Given the description of an element on the screen output the (x, y) to click on. 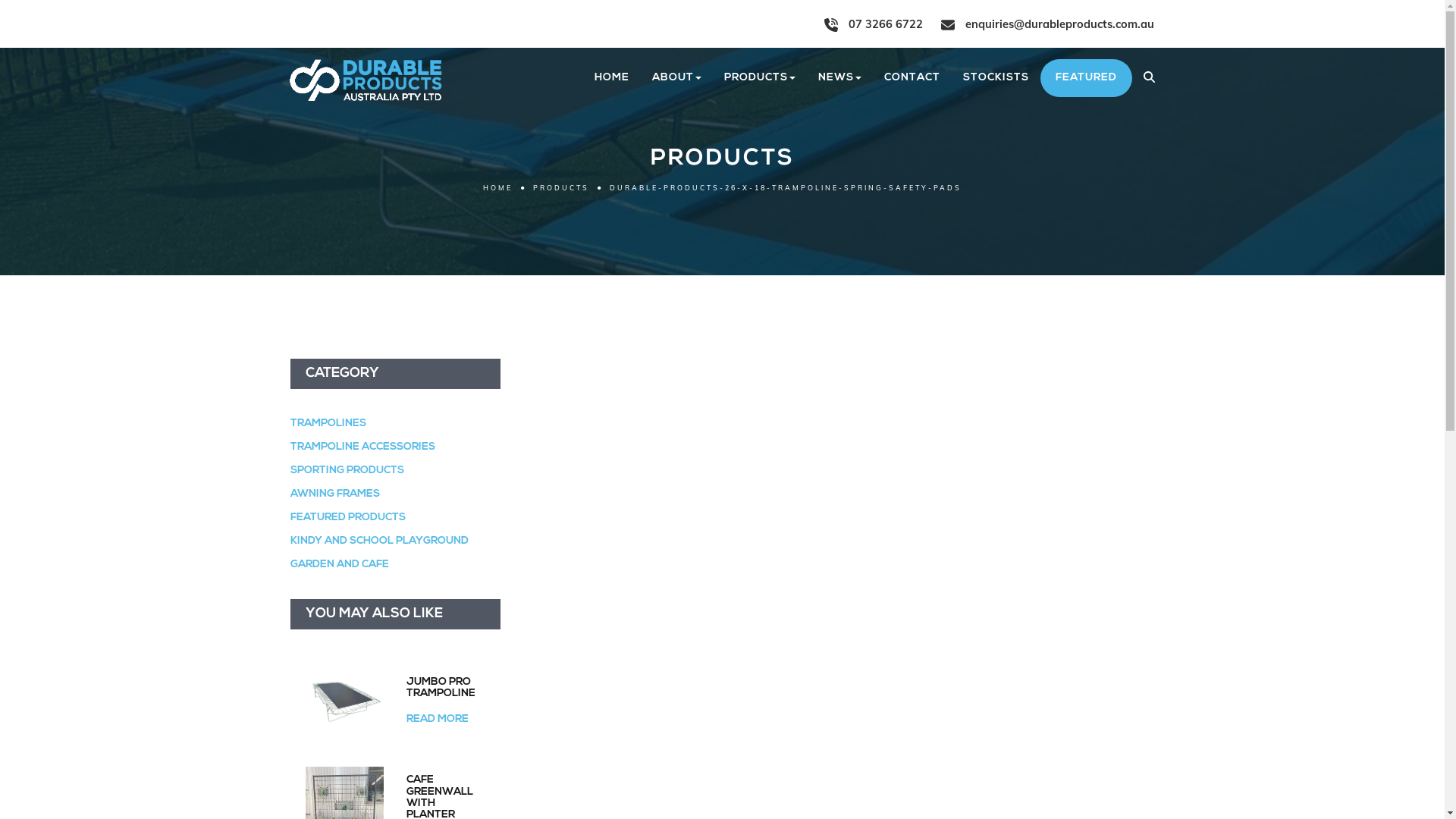
AWNING FRAMES Element type: text (334, 493)
KINDY AND SCHOOL PLAYGROUND Element type: text (378, 540)
SPORTING PRODUCTS Element type: text (346, 470)
HOME Element type: text (611, 77)
NEWS Element type: text (839, 77)
enquiries@durableproducts.com.au Element type: text (1046, 23)
CONTACT Element type: text (911, 77)
GARDEN AND CAFE Element type: text (338, 564)
STOCKISTS Element type: text (994, 77)
07 3266 6722 Element type: text (872, 23)
FEATURED PRODUCTS Element type: text (346, 517)
PRODUCTS Element type: text (759, 77)
TRAMPOLINES Element type: text (327, 423)
PRODUCTS Element type: text (560, 187)
TRAMPOLINE ACCESSORIES Element type: text (361, 446)
JUMBO PRO TRAMPOLINE Element type: text (445, 700)
FEATURED Element type: text (1086, 78)
HOME Element type: text (497, 187)
DURABLE-PRODUCTS-26-X-18-TRAMPOLINE-SPRING-SAFETY-PADS Element type: text (785, 187)
READ MORE Element type: text (437, 718)
ABOUT Element type: text (676, 77)
